Given the description of an element on the screen output the (x, y) to click on. 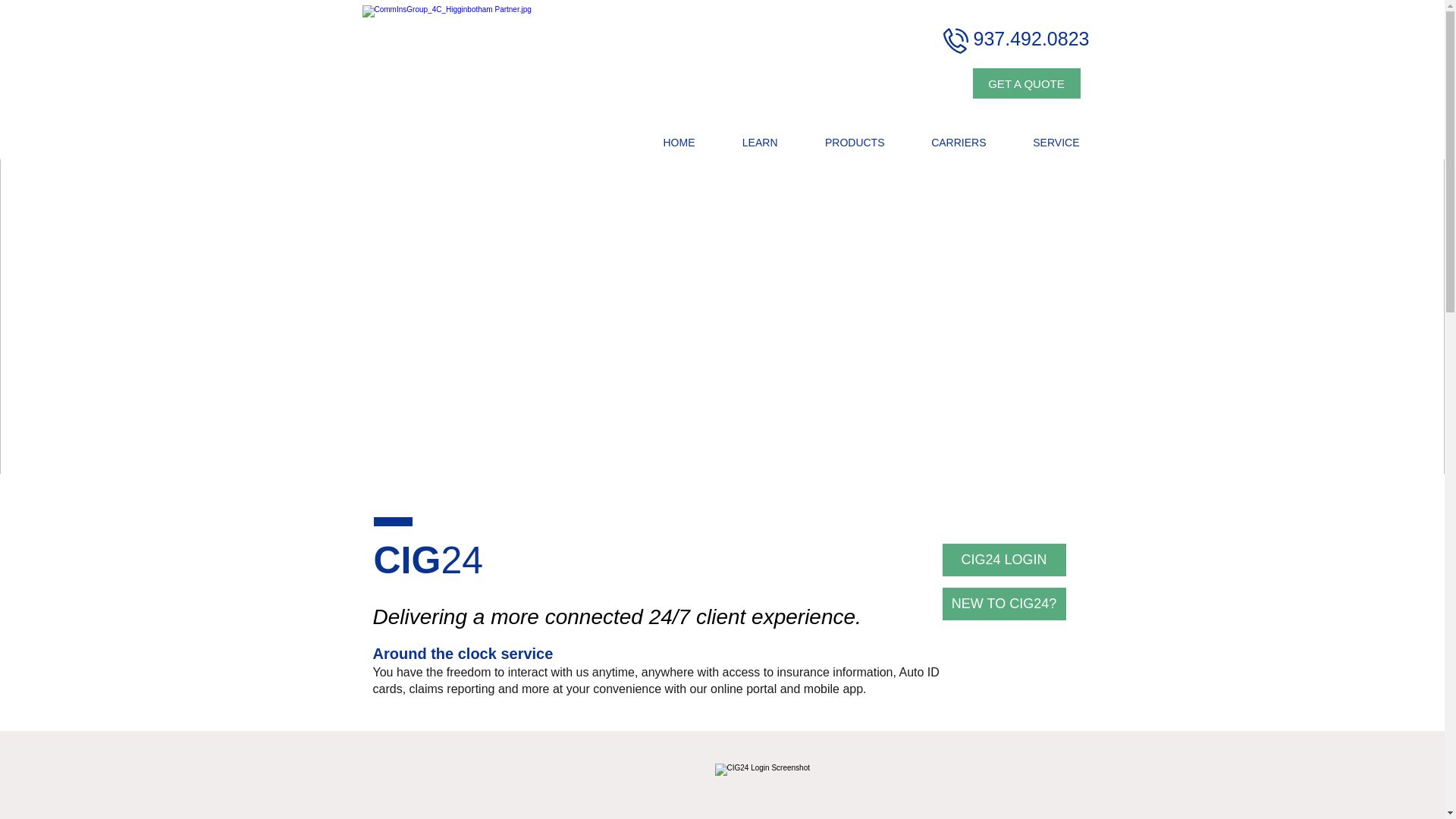
PRODUCTS (839, 142)
CIG24 LOGIN (1003, 559)
CARRIERS (943, 142)
HOME (663, 142)
937.492.0823 (1031, 38)
GET A QUOTE (1026, 82)
NEW TO CIG24? (1003, 603)
